Given the description of an element on the screen output the (x, y) to click on. 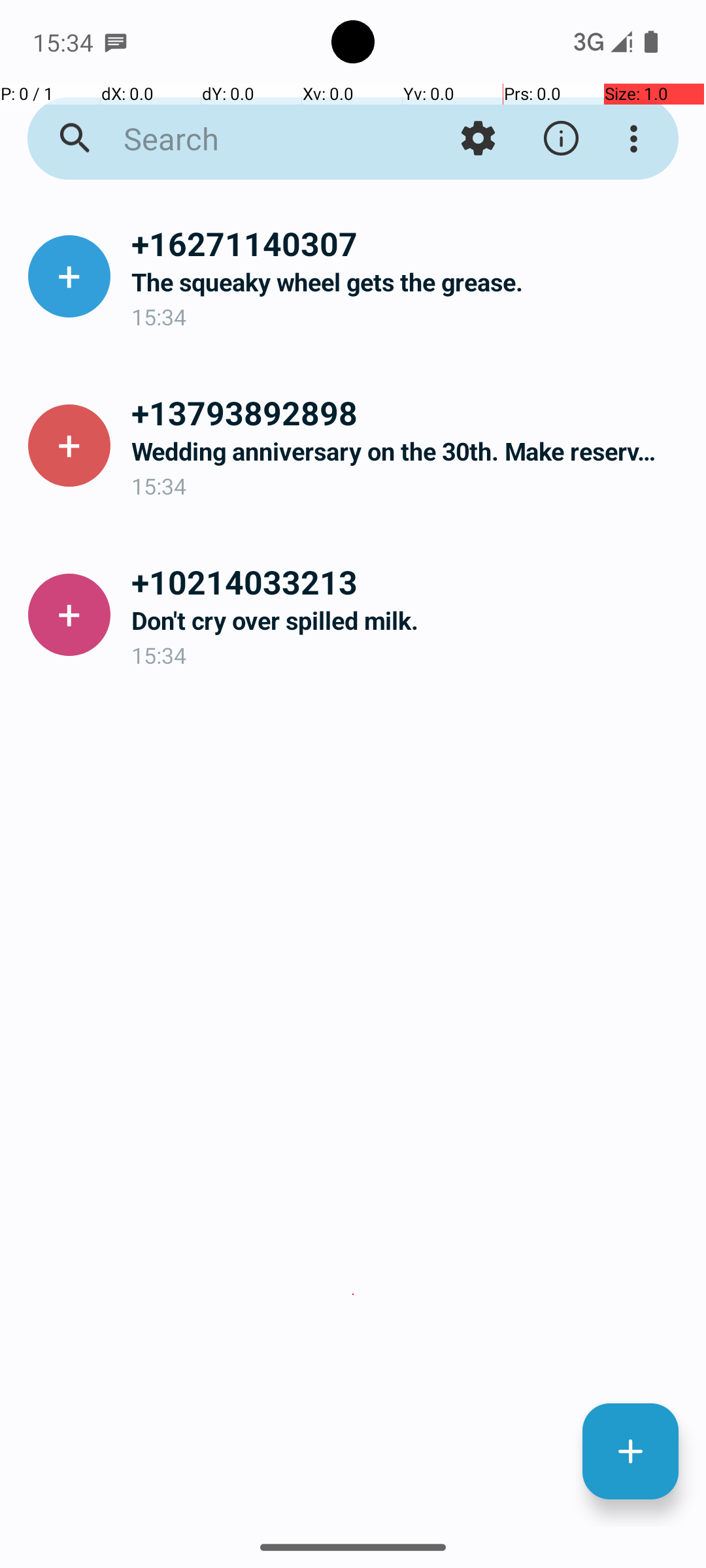
+16271140307 Element type: android.widget.TextView (408, 242)
The squeaky wheel gets the grease. Element type: android.widget.TextView (408, 281)
+13793892898 Element type: android.widget.TextView (408, 412)
Wedding anniversary on the 30th. Make reservations! Element type: android.widget.TextView (408, 450)
+10214033213 Element type: android.widget.TextView (408, 581)
Don't cry over spilled milk. Element type: android.widget.TextView (408, 620)
